Given the description of an element on the screen output the (x, y) to click on. 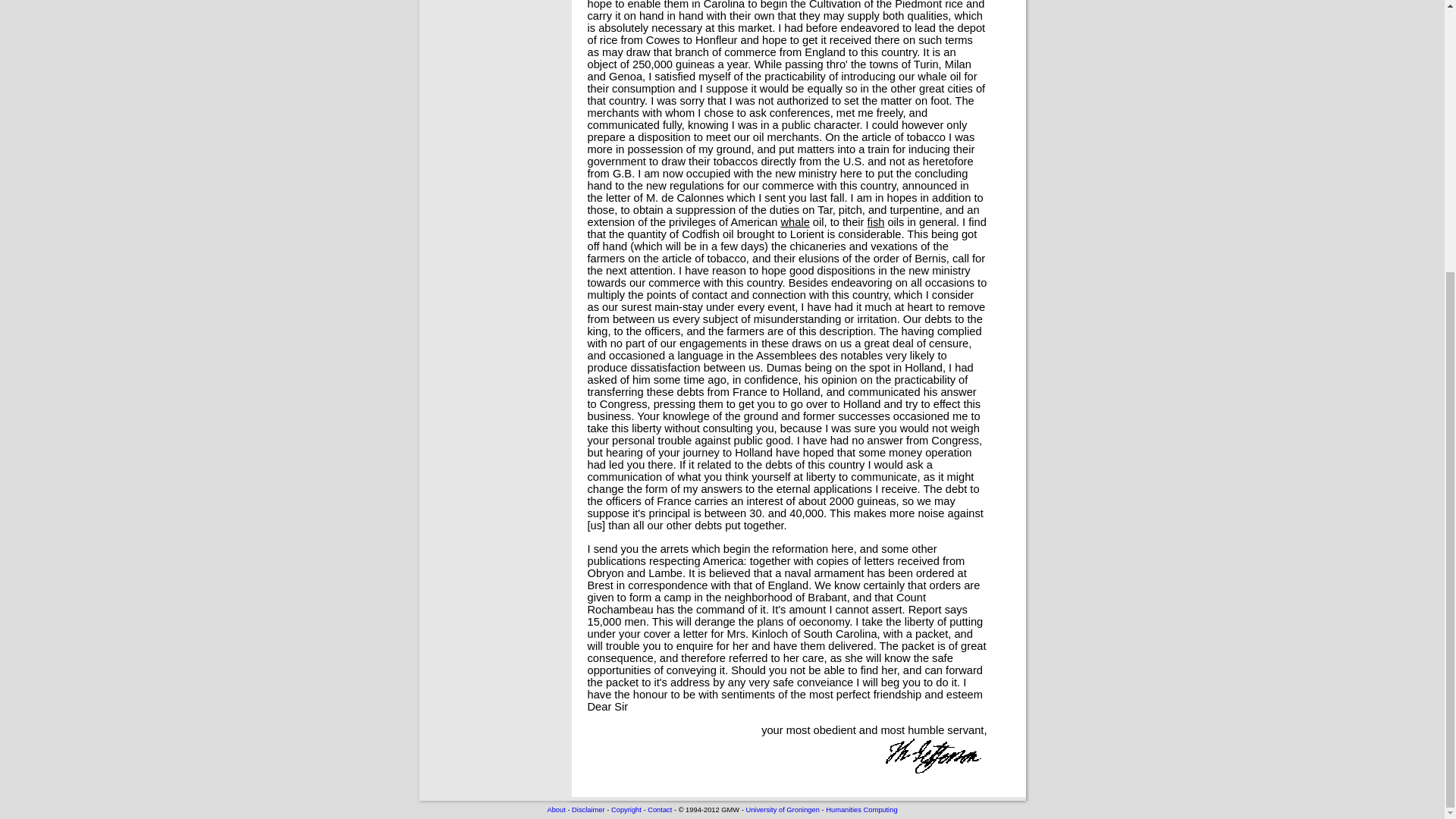
Contact (659, 809)
Humanities Computing (860, 809)
Disclaimer (588, 809)
Copyright (626, 809)
University of Groningen (781, 809)
About (555, 809)
